Given the description of an element on the screen output the (x, y) to click on. 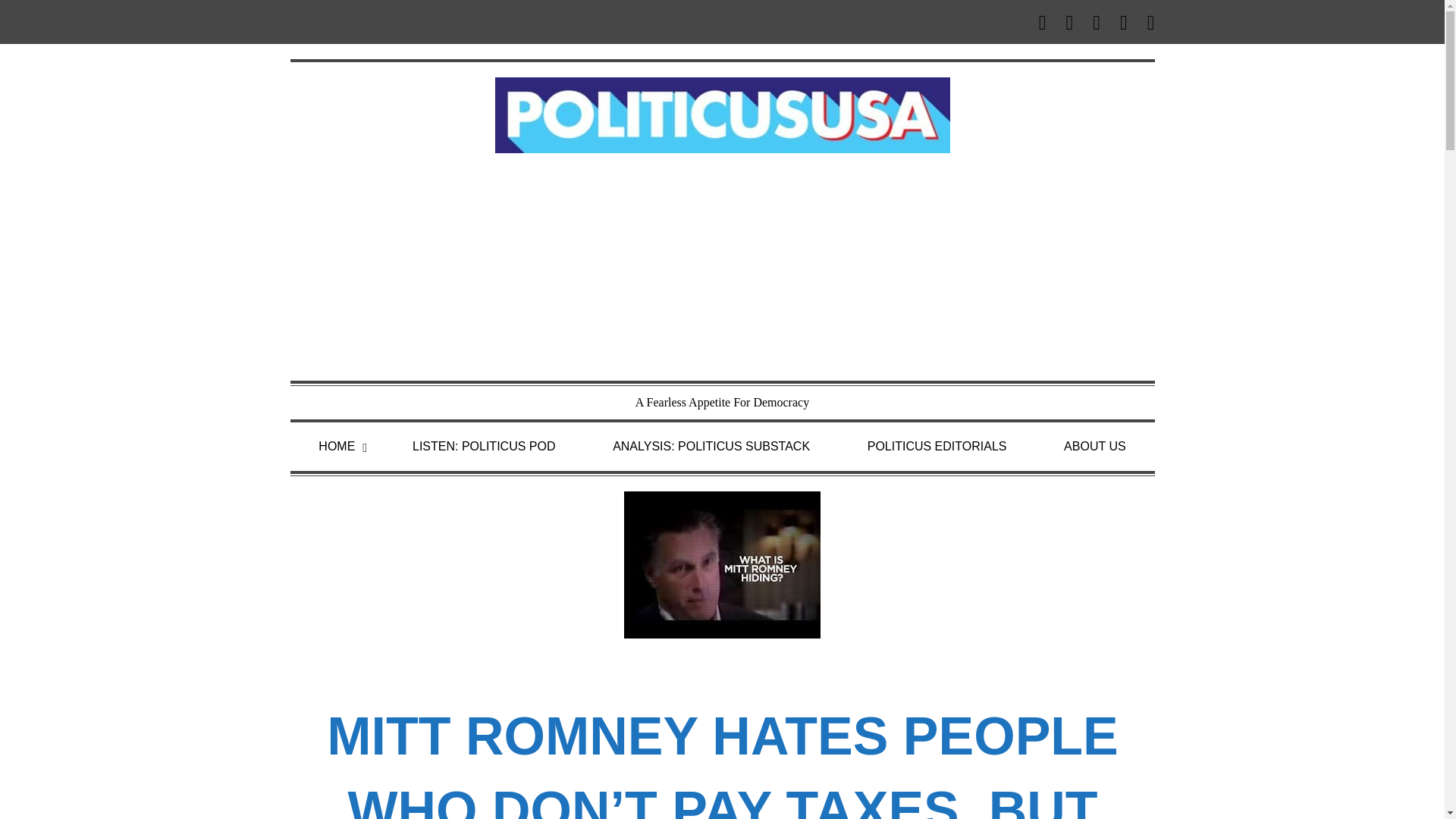
ABOUT US (1094, 446)
LISTEN: POLITICUS POD (483, 446)
ANALYSIS: POLITICUS SUBSTACK (710, 446)
HOME (335, 446)
Go back to home (722, 113)
POLITICUS EDITORIALS (936, 446)
